Given the description of an element on the screen output the (x, y) to click on. 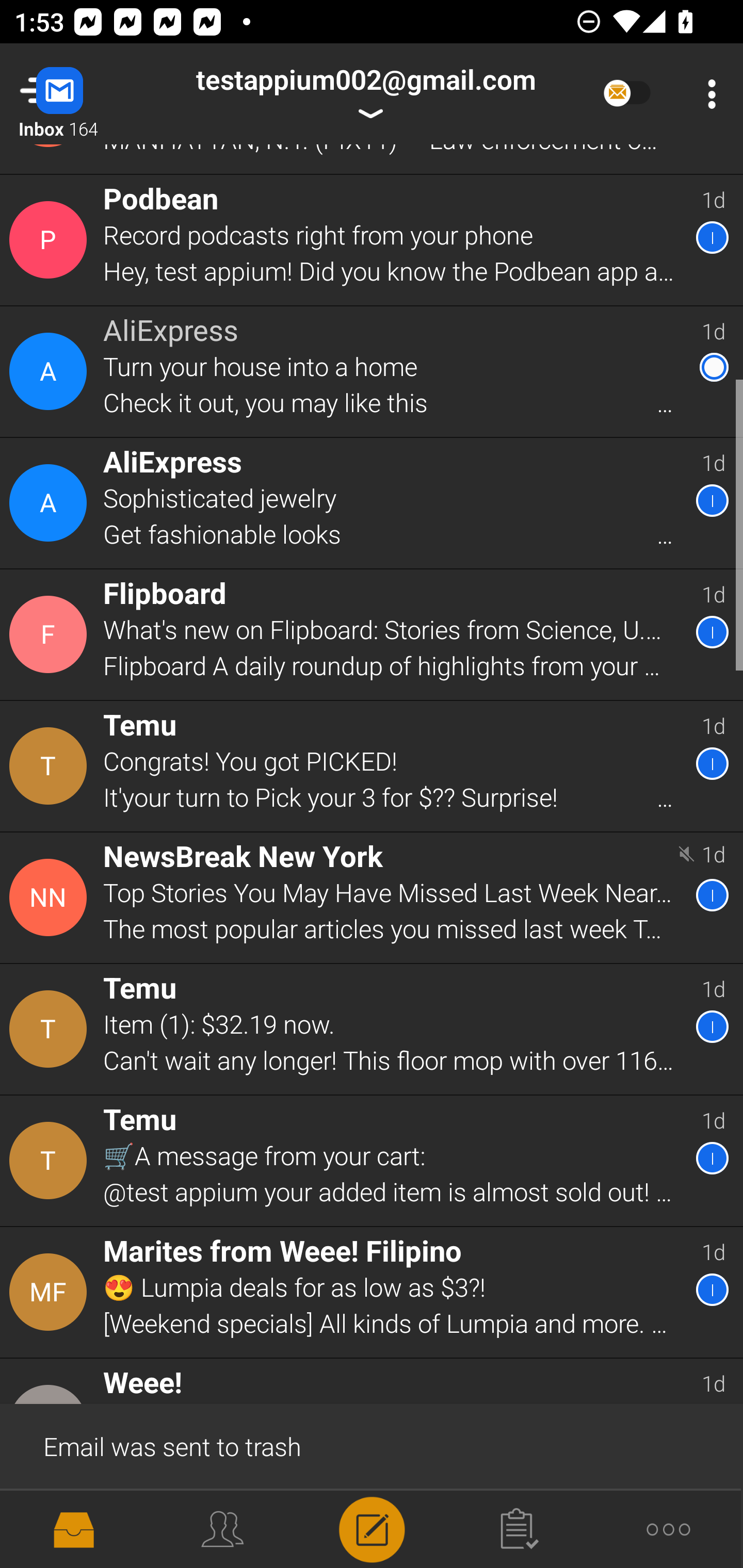
Navigate up (81, 93)
testappium002@gmail.com (365, 93)
More Options (706, 93)
Contact Details (50, 240)
Contact Details (50, 371)
Contact Details (50, 502)
Contact Details (50, 634)
Contact Details (50, 765)
Contact Details (50, 897)
Contact Details (50, 1029)
Contact Details (50, 1161)
Contact Details (50, 1292)
Email was sent to trash (371, 1445)
Compose (371, 1528)
Contact Details (50, 1528)
